Given the description of an element on the screen output the (x, y) to click on. 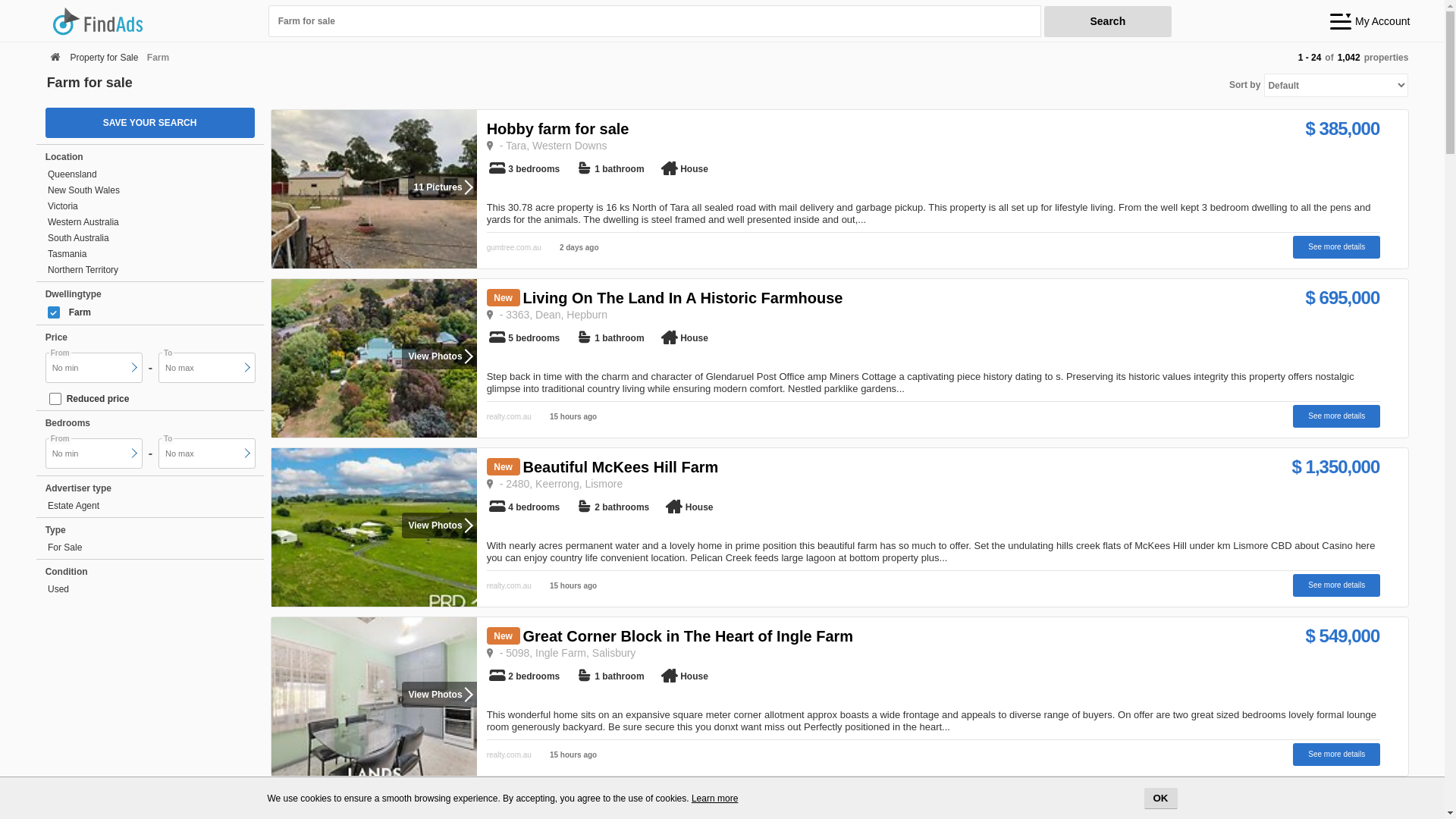
on Element type: text (55, 398)
Property for Sale Element type: text (103, 57)
Findads.com.au Element type: hover (154, 20)
Queensland Element type: text (146, 174)
New South Wales Element type: text (146, 190)
Search Element type: text (1107, 21)
on Element type: text (53, 312)
South Australia Element type: text (146, 238)
SAVE YOUR SEARCH Element type: text (149, 122)
Learn more Element type: text (714, 798)
OK Element type: text (1159, 798)
Victoria Element type: text (146, 206)
